Given the description of an element on the screen output the (x, y) to click on. 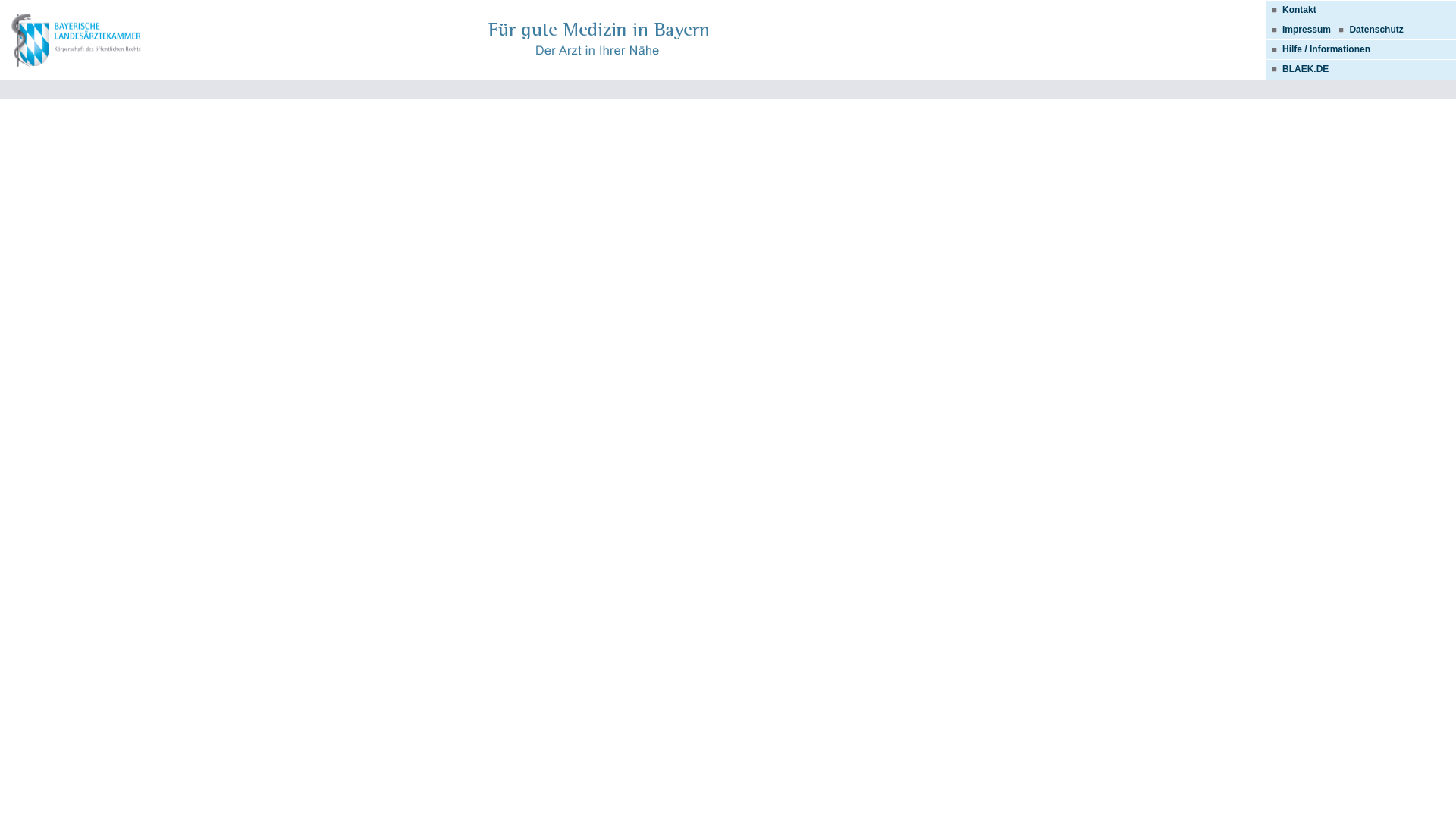
Hilfe / Informationen Element type: text (1318, 48)
Datenschutz Element type: text (1375, 29)
BLAEK.DE Element type: text (1297, 68)
Kontakt Element type: text (1291, 9)
Arztsuche Element type: hover (77, 41)
Impressum Element type: text (1306, 29)
